Given the description of an element on the screen output the (x, y) to click on. 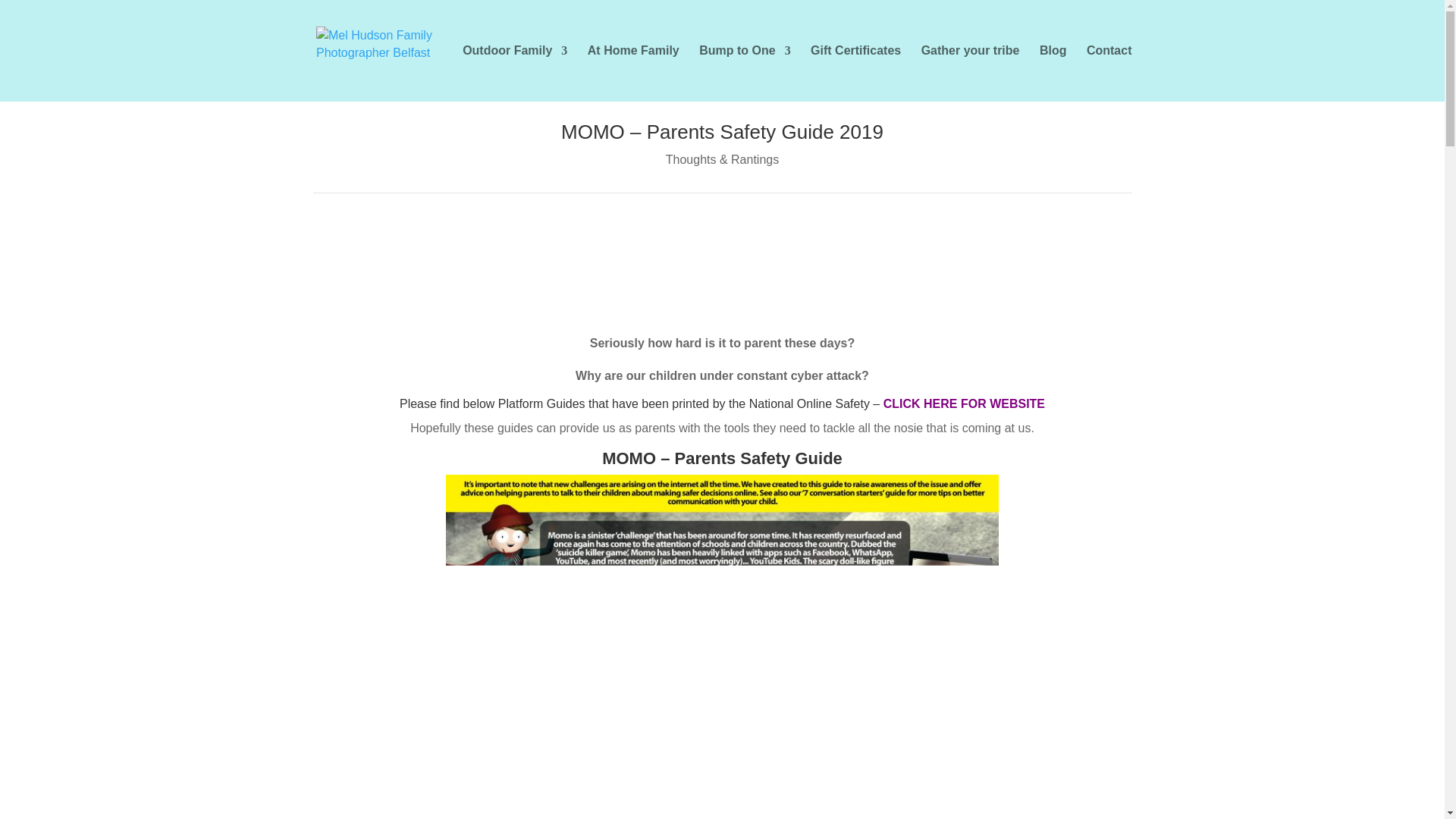
CLICK HERE FOR WEBSITE (964, 403)
Gather your tribe (970, 73)
At Home Family (633, 73)
Bump to One (744, 73)
Gift Certificates (855, 73)
Outdoor Family (515, 73)
